Given the description of an element on the screen output the (x, y) to click on. 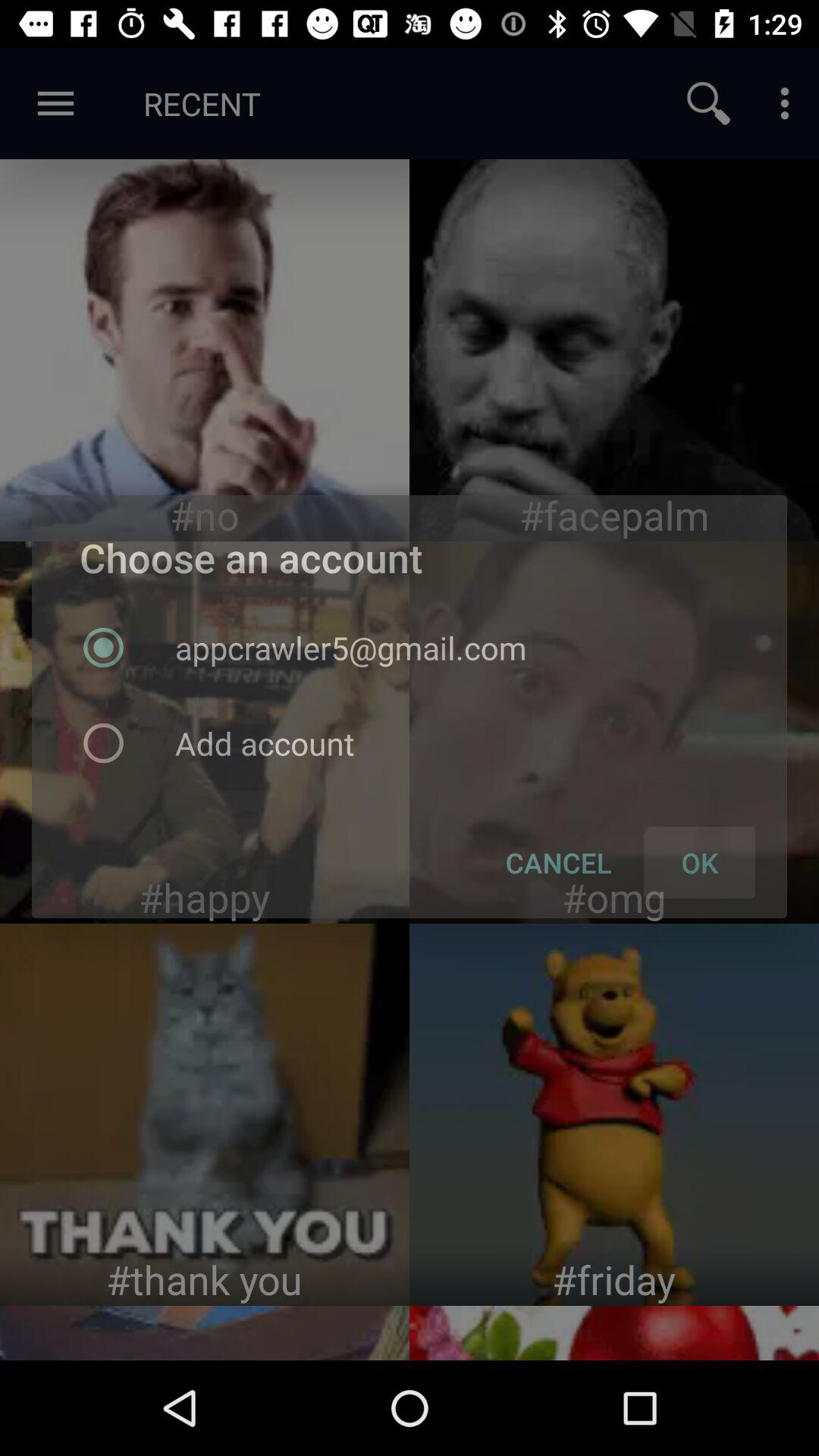
friday option (614, 1114)
